Given the description of an element on the screen output the (x, y) to click on. 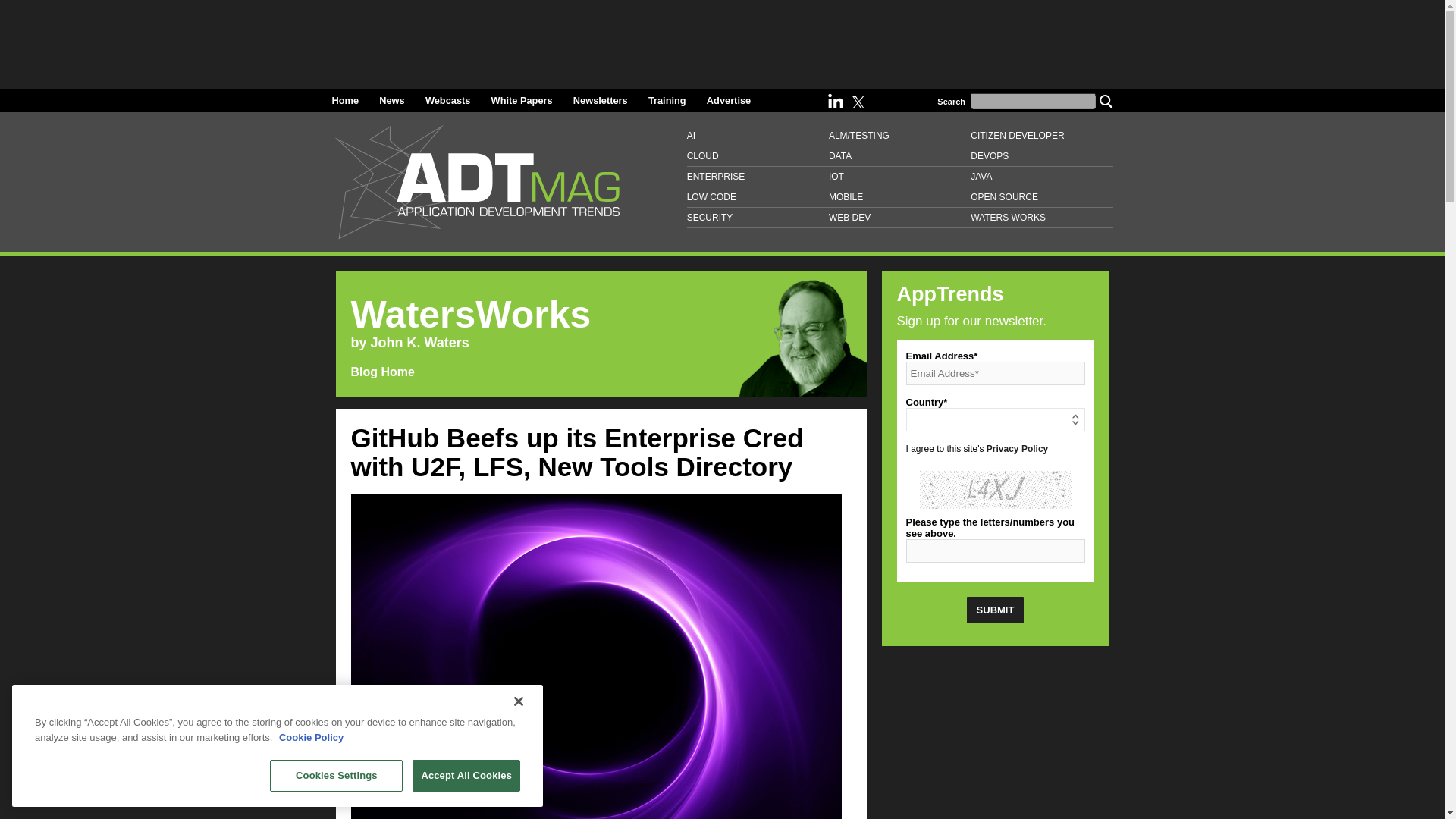
Newsletters (600, 100)
News (391, 100)
Blog archive (415, 372)
Submit (995, 610)
DATA (899, 156)
Home (345, 100)
IOT (899, 177)
White Papers (522, 100)
AI (757, 136)
SECURITY (757, 218)
Webcasts (447, 100)
WEB DEV (899, 218)
MOBILE (899, 197)
LOW CODE (757, 197)
DEVOPS (1041, 156)
